Given the description of an element on the screen output the (x, y) to click on. 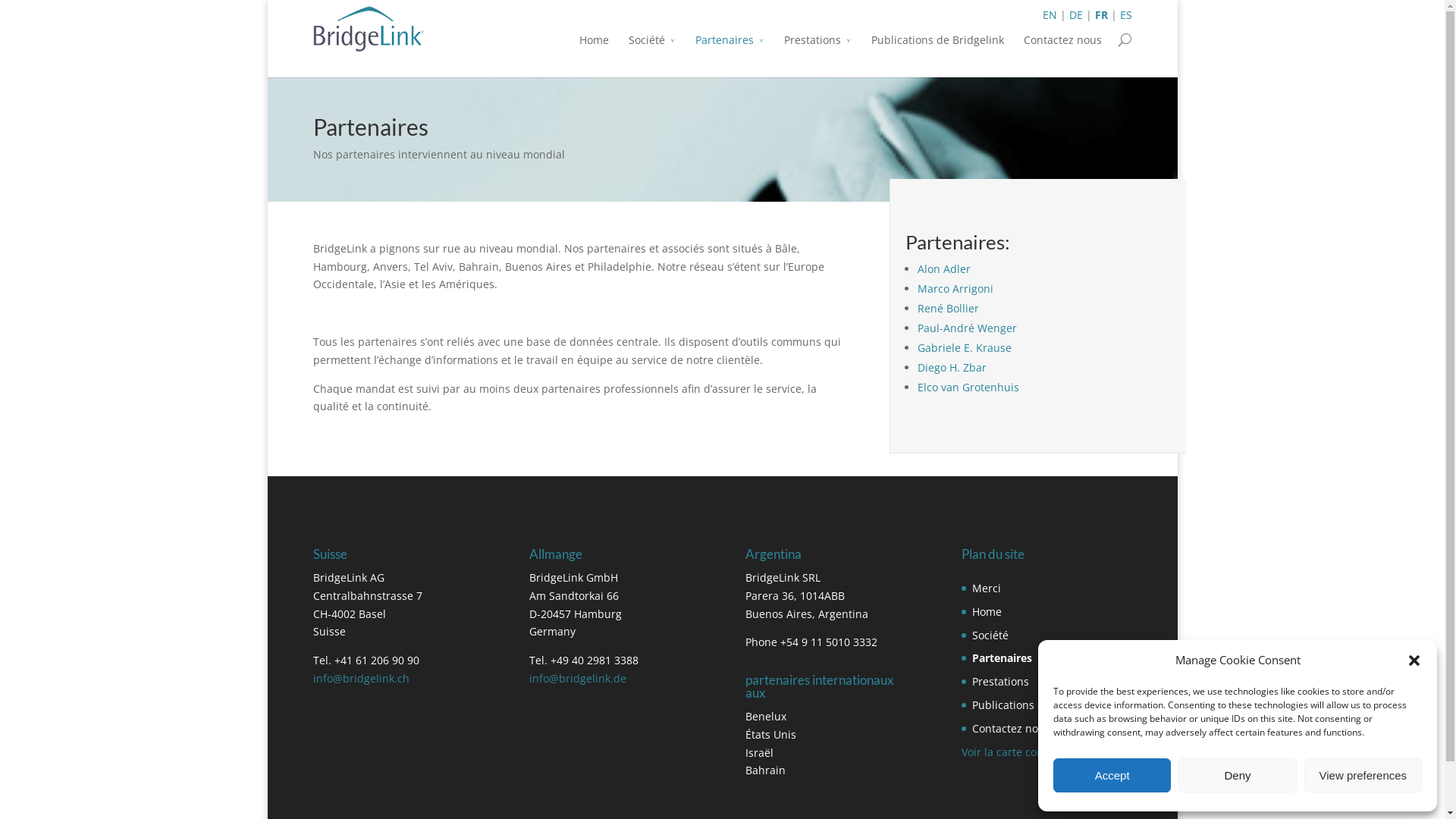
Marco Arrigoni Element type: text (955, 288)
Prestations Element type: text (817, 50)
Elco van Grotenhuis Element type: text (968, 386)
FR Element type: text (1101, 14)
info@bridgelink.de Element type: text (577, 678)
Home Element type: text (593, 50)
EN Element type: text (1048, 14)
Alon Adler Element type: text (943, 268)
Publications de Bridgelink Element type: text (1038, 704)
Merci Element type: text (986, 587)
Publications de Bridgelink Element type: text (936, 50)
Gabriele E. Krause Element type: text (964, 347)
Contactez nous Element type: text (1062, 50)
Accept Element type: text (1111, 775)
Deny Element type: text (1236, 775)
Partenaires Element type: text (728, 43)
info@bridgelink.ch Element type: text (360, 678)
Home Element type: text (986, 611)
Prestations Element type: text (1000, 681)
View preferences Element type: text (1362, 775)
Contactez nous Element type: text (1011, 728)
DE Element type: text (1075, 14)
ES Element type: text (1125, 14)
Diego H. Zbar Element type: text (951, 367)
Partenaires Element type: text (1002, 657)
